Given the description of an element on the screen output the (x, y) to click on. 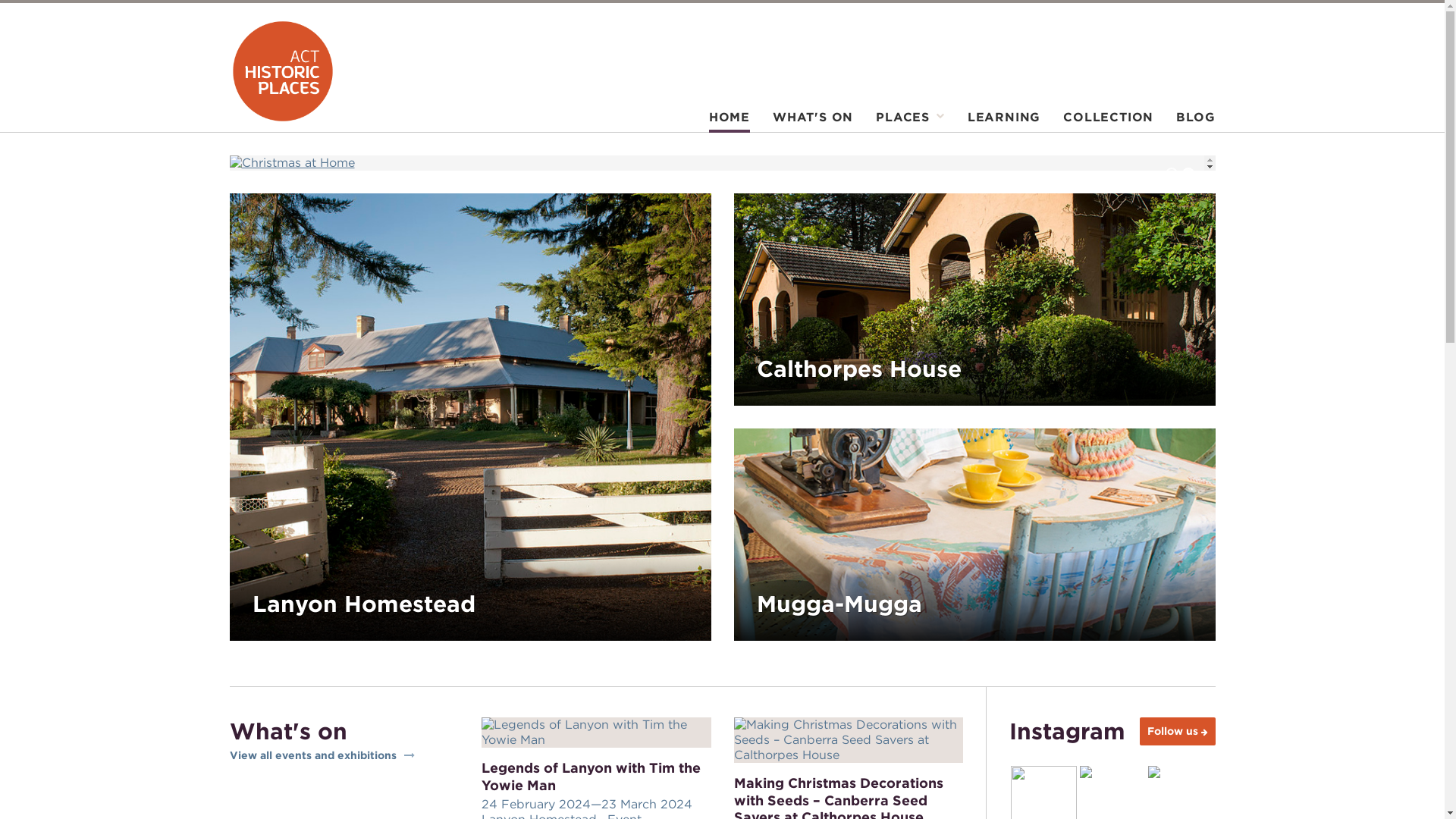
Mugga-Mugga Element type: text (986, 545)
Lanyon Homestead Element type: text (481, 428)
Historic Places Element type: text (282, 71)
1 Element type: text (1170, 173)
HOME Element type: text (729, 120)
2 Element type: text (1187, 173)
Calthorpes House Element type: text (986, 310)
COLLECTION Element type: text (1107, 120)
View all events and exhibitions Element type: text (343, 755)
LEARNING Element type: text (1003, 120)
BLOG Element type: text (1189, 120)
WHAT'S ON Element type: text (812, 120)
Follow us Element type: text (1176, 731)
